Given the description of an element on the screen output the (x, y) to click on. 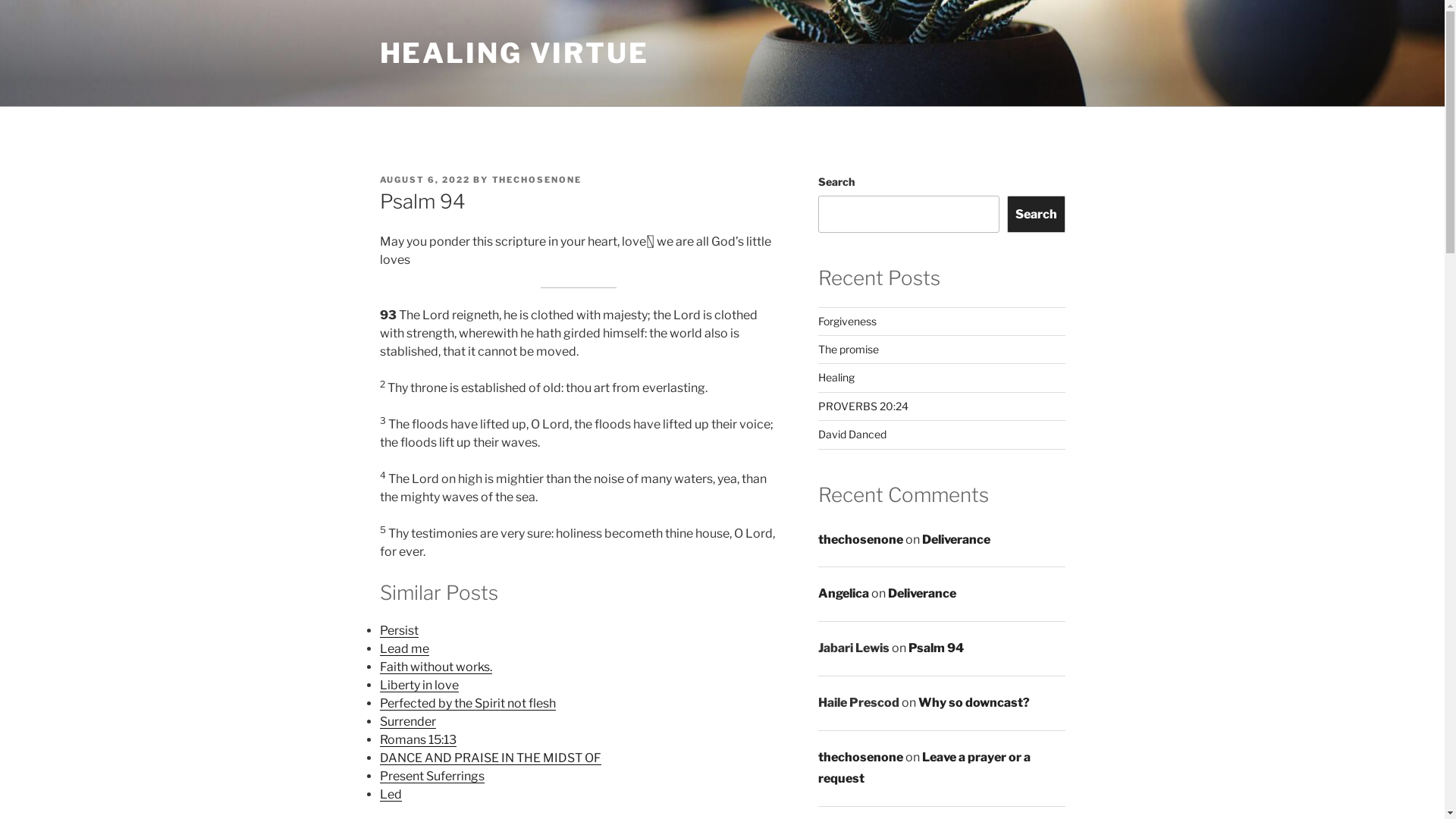
HEALING VIRTUE Element type: text (513, 52)
Psalm 94 Element type: text (935, 647)
DANCE AND PRAISE IN THE MIDST OF Element type: text (489, 757)
Surrender Element type: text (407, 721)
Faith without works. Element type: text (435, 666)
Search Element type: text (1036, 213)
Angelica Element type: text (843, 593)
Healing Element type: text (836, 376)
PROVERBS 20:24 Element type: text (863, 405)
Forgiveness Element type: text (847, 320)
The promise Element type: text (848, 348)
THECHOSENONE Element type: text (536, 179)
Present Suferrings Element type: text (431, 775)
Liberty in love Element type: text (418, 684)
Deliverance Element type: text (956, 539)
AUGUST 6, 2022 Element type: text (424, 179)
Led Element type: text (390, 794)
Perfected by the Spirit not flesh Element type: text (467, 703)
Leave a prayer or a request Element type: text (924, 767)
Persist Element type: text (398, 630)
thechosenone Element type: text (860, 539)
Romans 15:13 Element type: text (417, 739)
Lead me Element type: text (403, 648)
David Danced Element type: text (852, 433)
Why so downcast? Element type: text (973, 702)
thechosenone Element type: text (860, 756)
Deliverance Element type: text (922, 593)
